Given the description of an element on the screen output the (x, y) to click on. 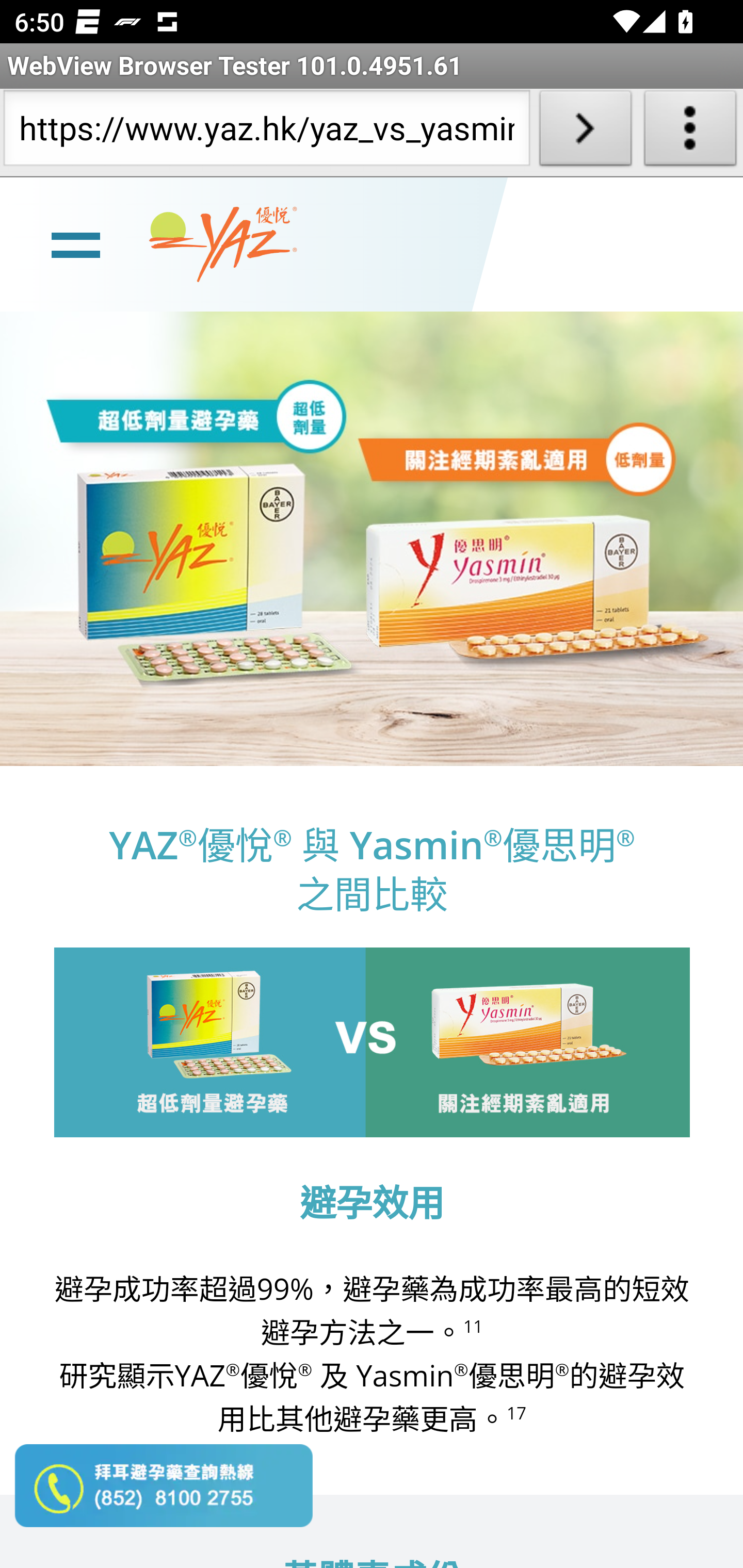
https://www.yaz.hk/yaz_vs_yasmin (266, 132)
Load URL (585, 132)
About WebView (690, 132)
www.yaz (222, 244)
line Toggle burger menu (75, 242)
